Given the description of an element on the screen output the (x, y) to click on. 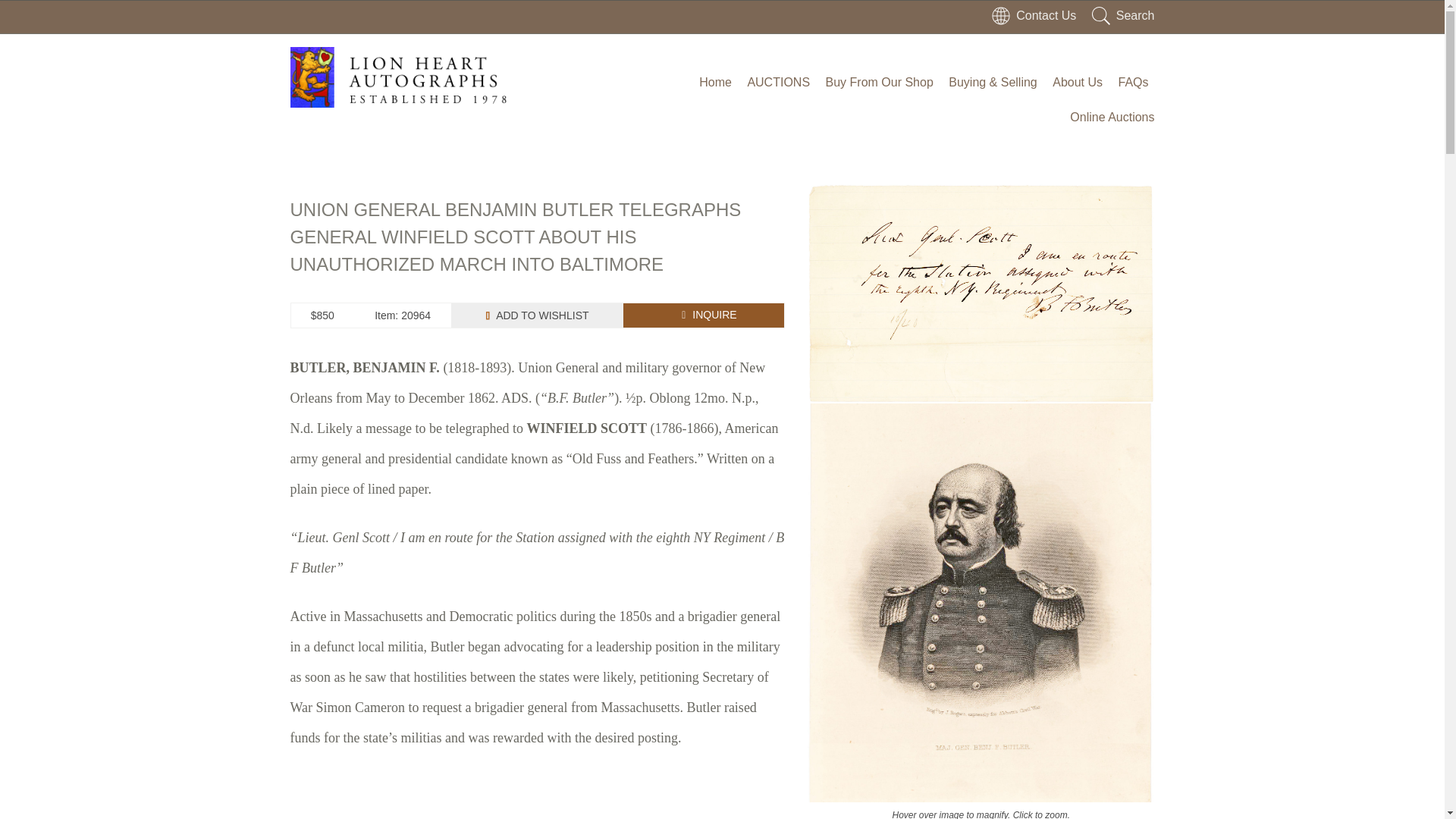
Contact Us (1033, 15)
Search (1123, 15)
Contact Us (1033, 15)
